Given the description of an element on the screen output the (x, y) to click on. 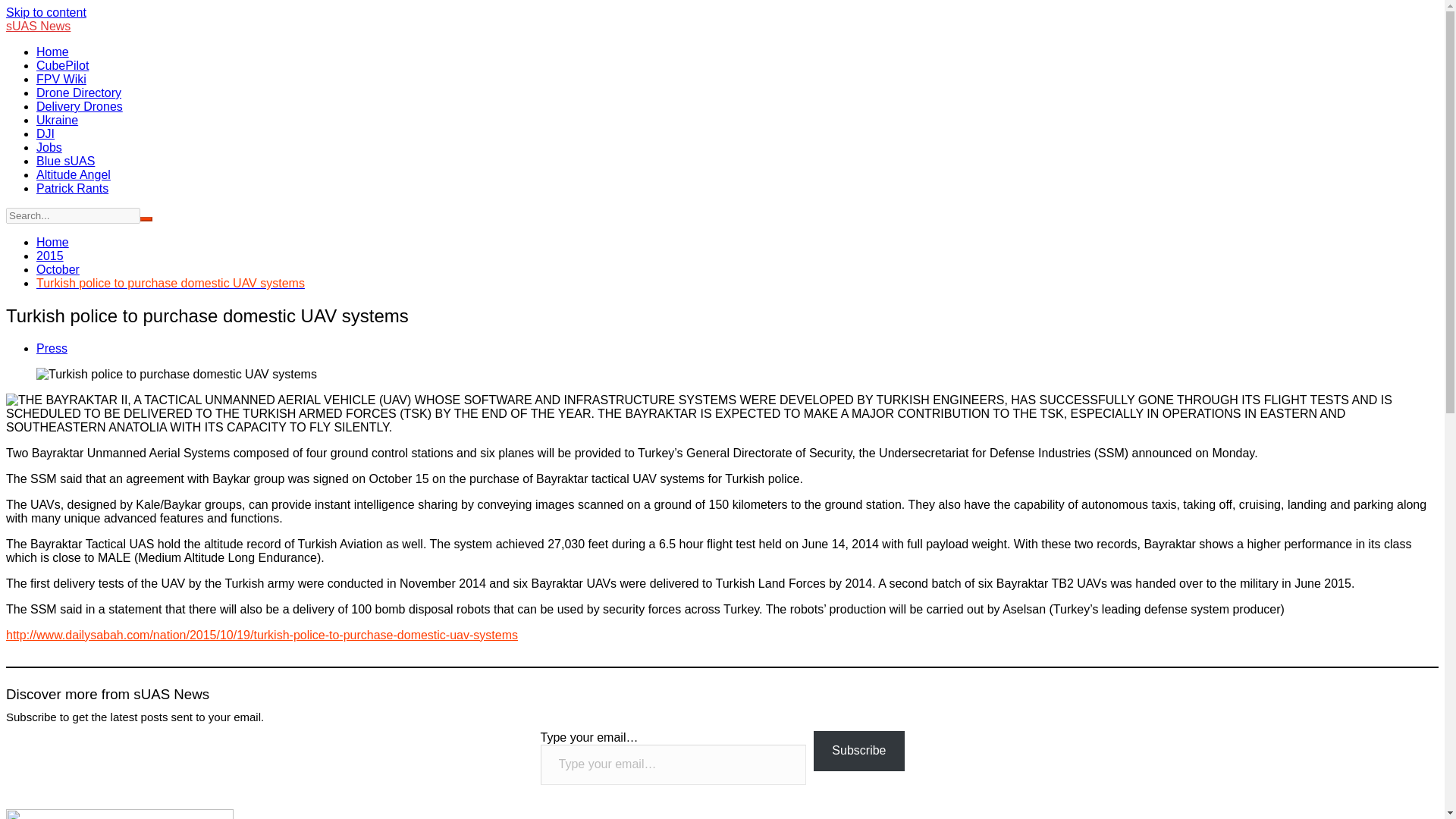
Delivery Drones (79, 106)
Home (52, 51)
FPV Wiki (60, 78)
2015 (50, 255)
Blue sUAS (65, 160)
Home (52, 241)
Ukraine (57, 119)
Please fill in this field. (673, 764)
October (58, 269)
Patrick Rants (71, 187)
Skip to content (45, 11)
Subscribe (858, 751)
CubePilot (62, 65)
DJI (45, 133)
Drone Directory (78, 92)
